Given the description of an element on the screen output the (x, y) to click on. 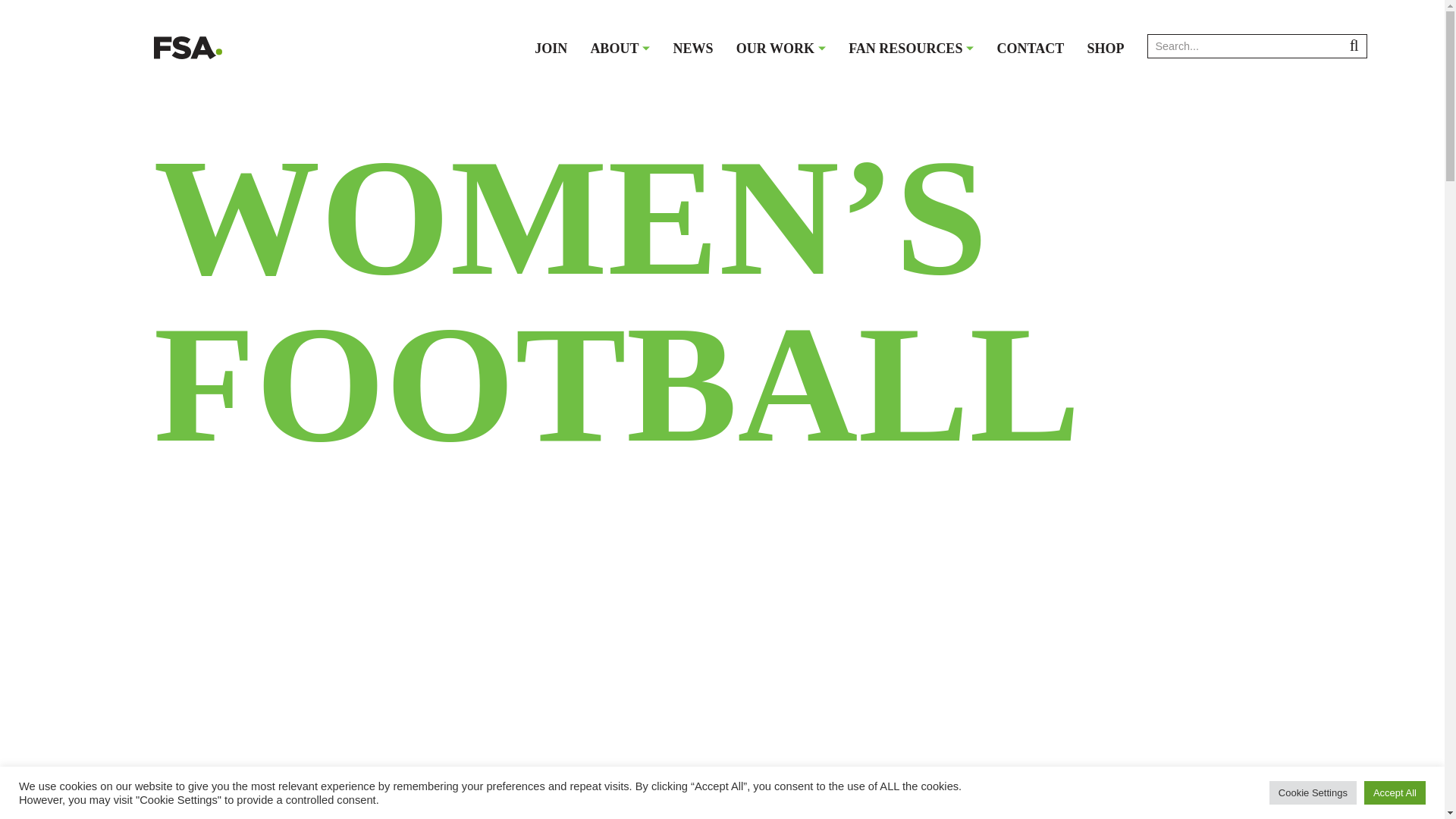
ABOUT (619, 48)
JOIN (550, 48)
OUR WORK (780, 48)
NEWS (692, 48)
